Given the description of an element on the screen output the (x, y) to click on. 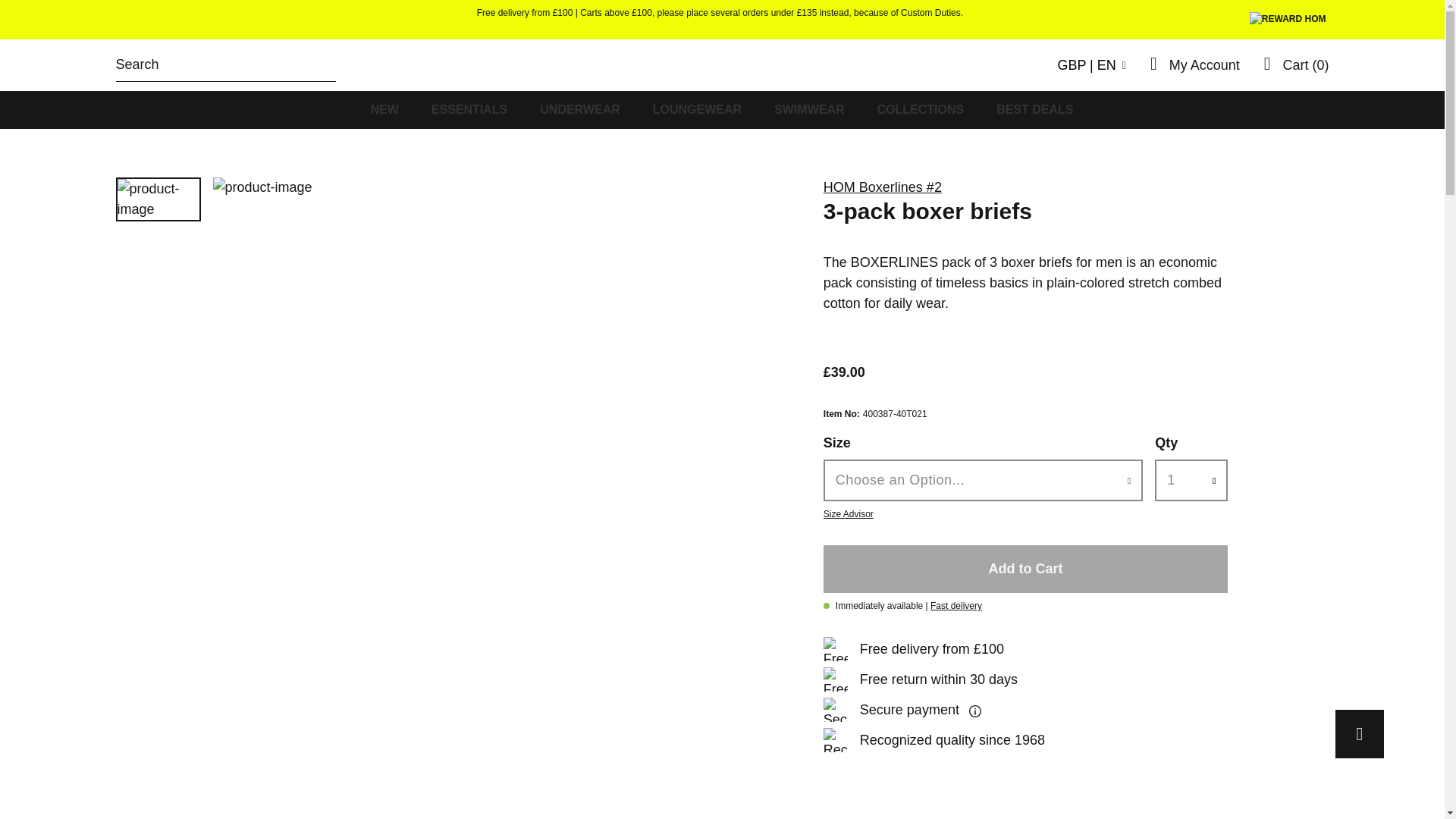
Cart 0 (1296, 65)
My Account (1204, 64)
Essentials (469, 109)
ESSENTIALS (469, 109)
NEW (383, 109)
UNDERWEAR (579, 109)
New (383, 109)
